Given the description of an element on the screen output the (x, y) to click on. 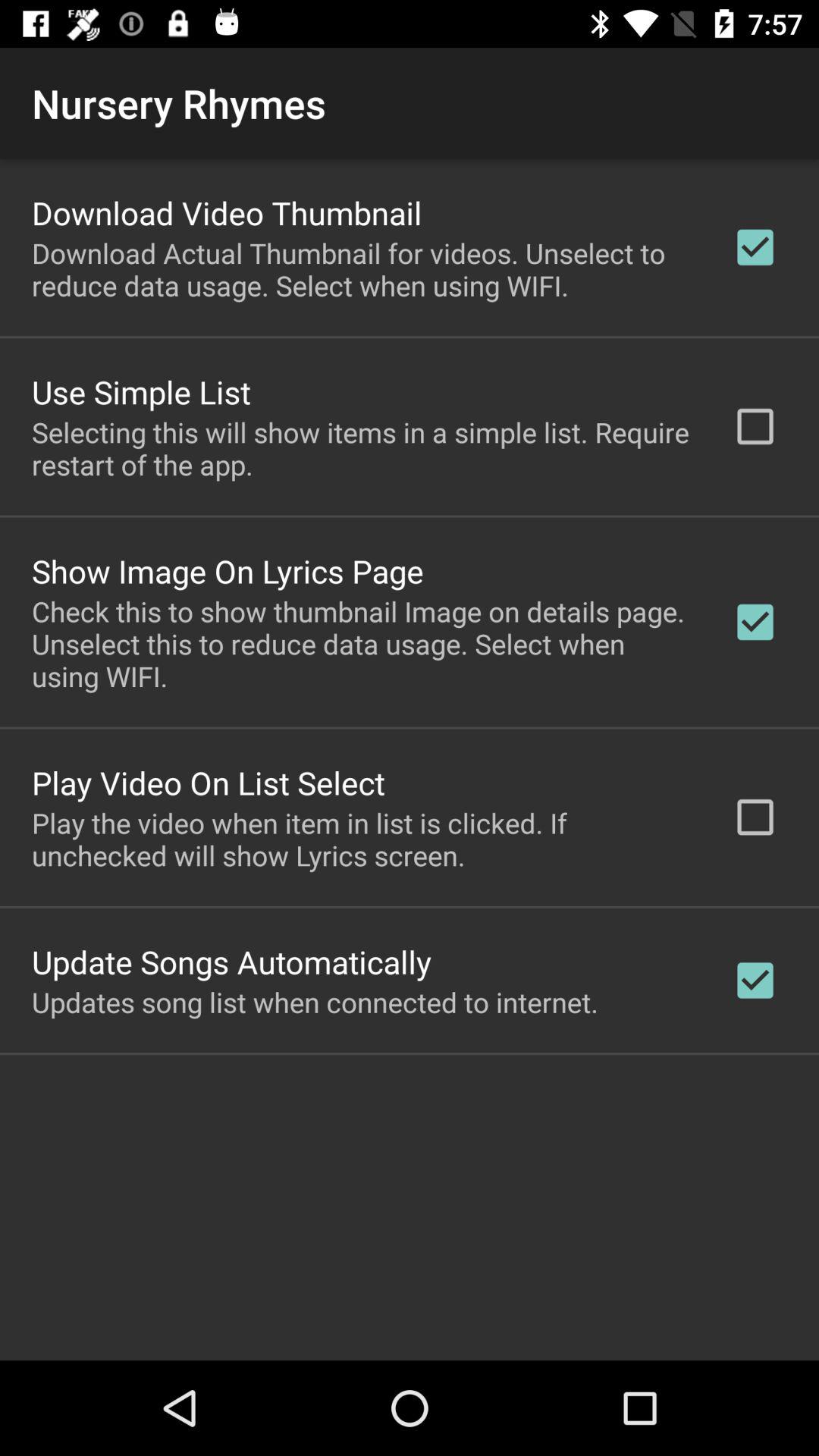
swipe until updates song list icon (314, 1001)
